Given the description of an element on the screen output the (x, y) to click on. 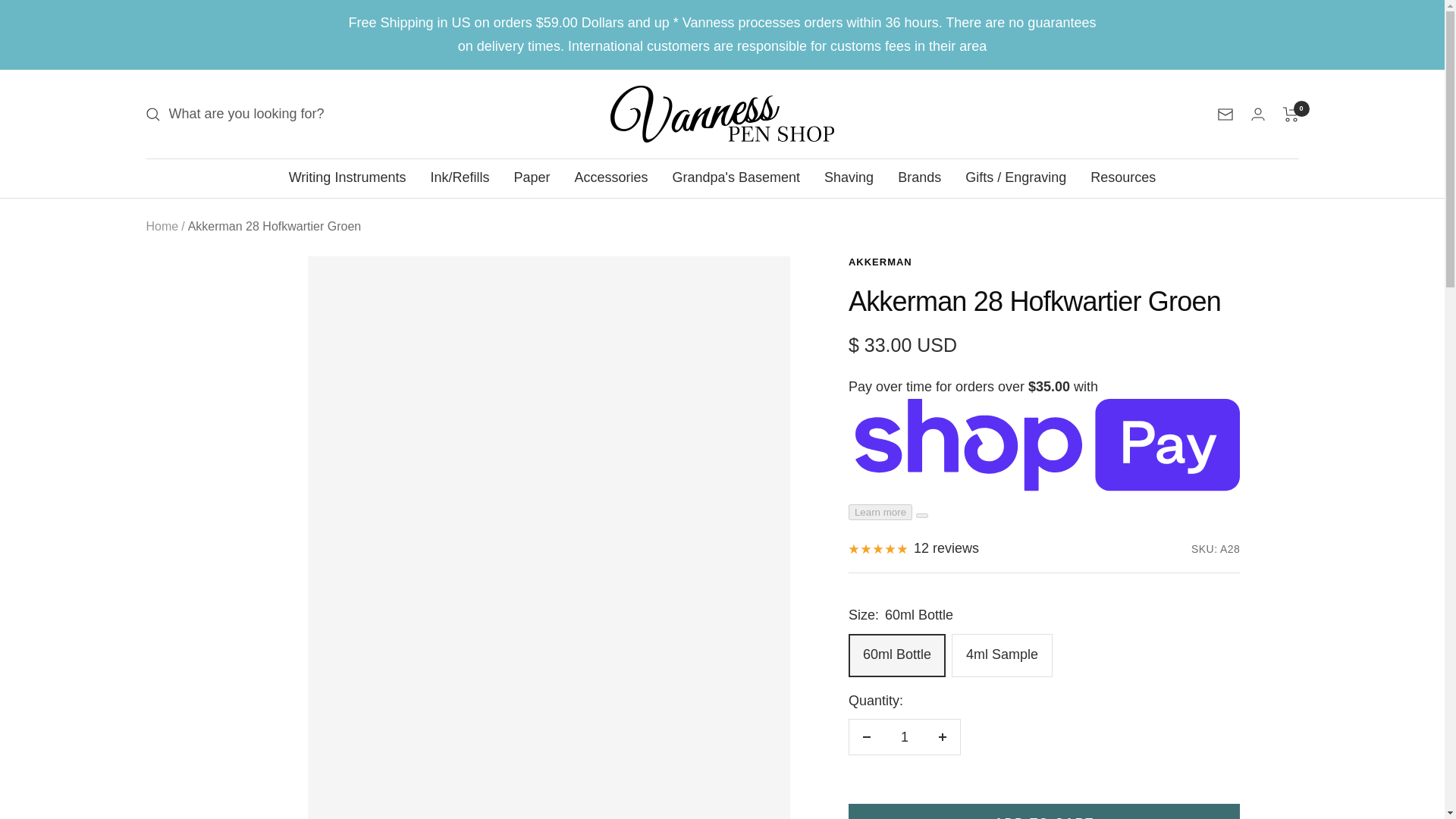
Home (161, 226)
Accessories (611, 177)
Writing Instruments (347, 177)
Shaving (848, 177)
Increase quantity (941, 736)
Brands (919, 177)
12 reviews (913, 548)
Resources (1123, 177)
Vanness (722, 113)
AKKERMAN (880, 261)
1 (903, 736)
Decrease quantity (865, 736)
0 (1290, 114)
Grandpa's Basement (736, 177)
